Given the description of an element on the screen output the (x, y) to click on. 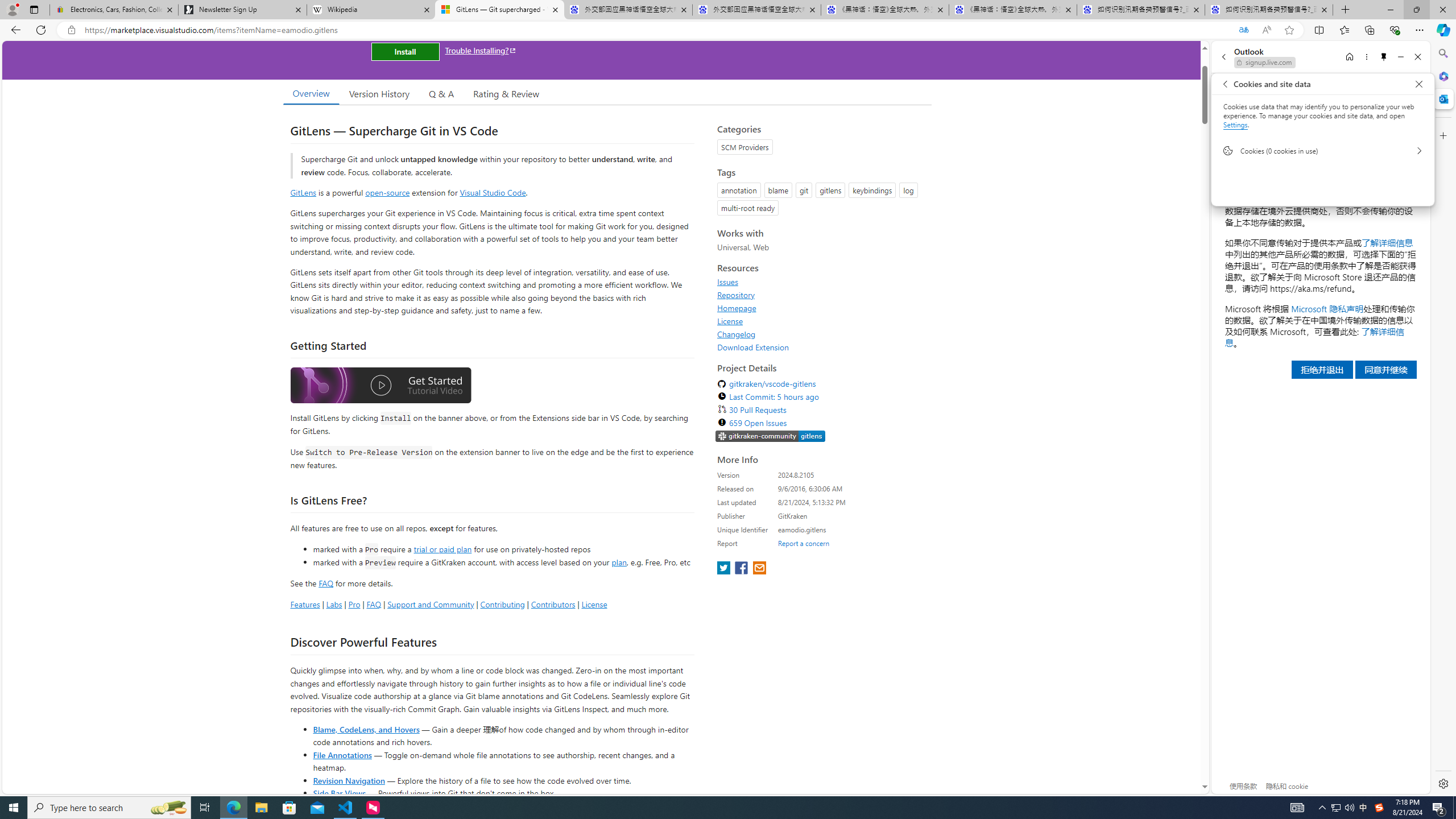
Cookies (0 cookies in use) (1322, 150)
